Given the description of an element on the screen output the (x, y) to click on. 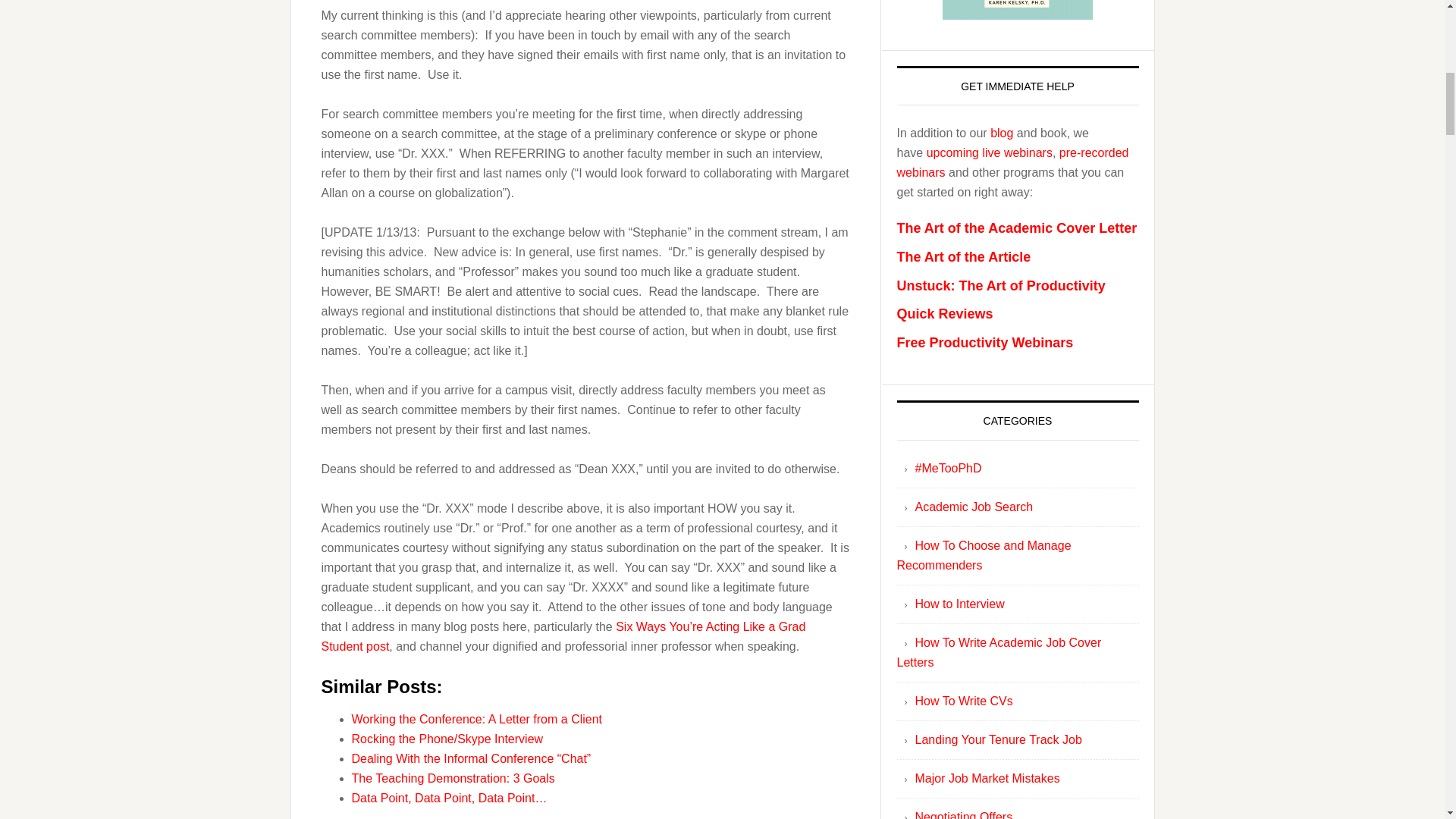
Working the Conference:  A Letter from a Client (477, 718)
The Teaching Demonstration: 3 Goals (453, 778)
The Book (1017, 9)
